Given the description of an element on the screen output the (x, y) to click on. 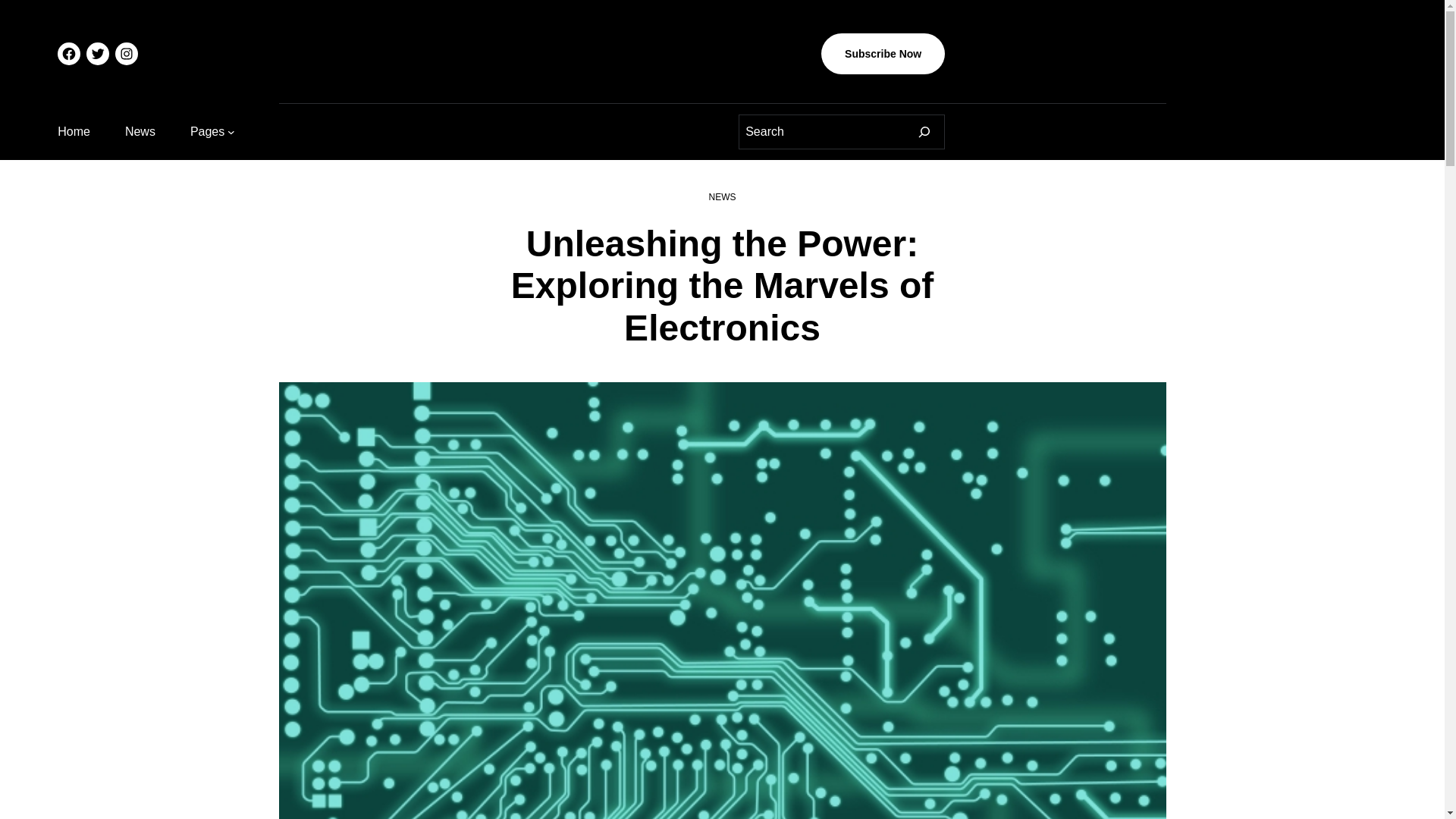
NEWS (721, 196)
Pages (207, 131)
Instagram (126, 53)
Facebook (69, 53)
Subscribe Now (882, 53)
News (140, 131)
Twitter (97, 53)
Home (74, 131)
